Given the description of an element on the screen output the (x, y) to click on. 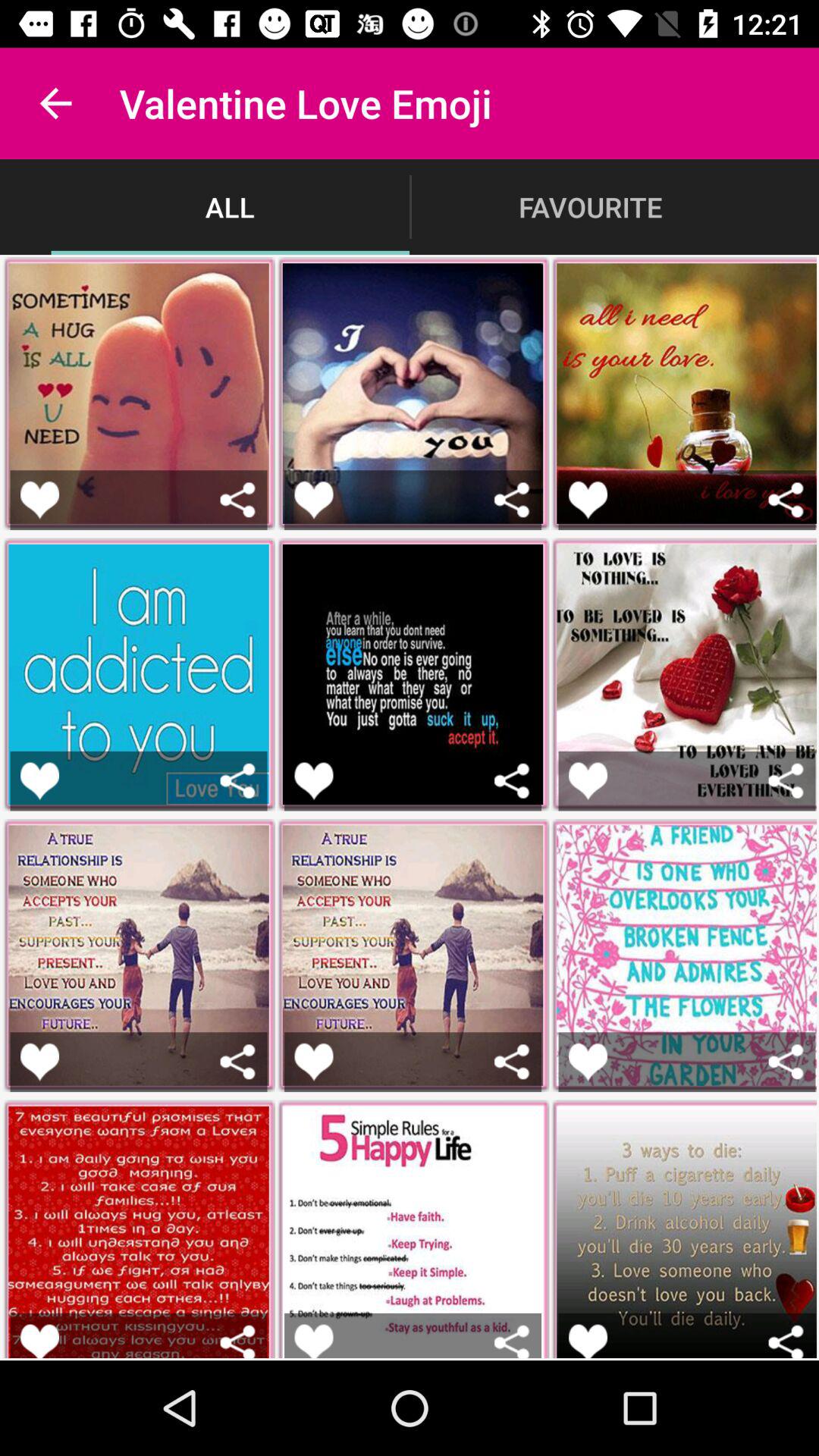
heart the picture (587, 499)
